Given the description of an element on the screen output the (x, y) to click on. 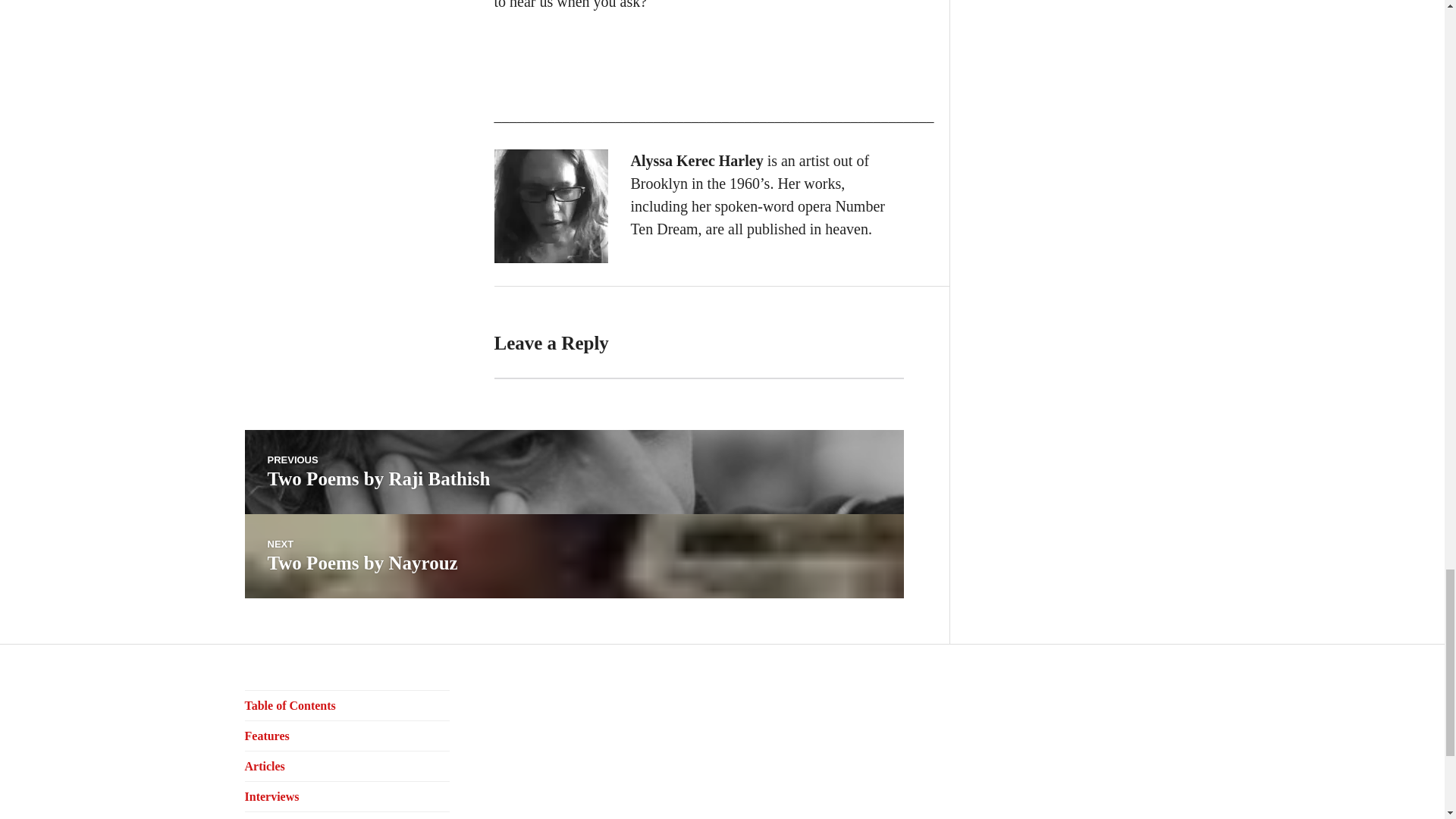
Table of Contents (289, 705)
Features (573, 556)
